Given the description of an element on the screen output the (x, y) to click on. 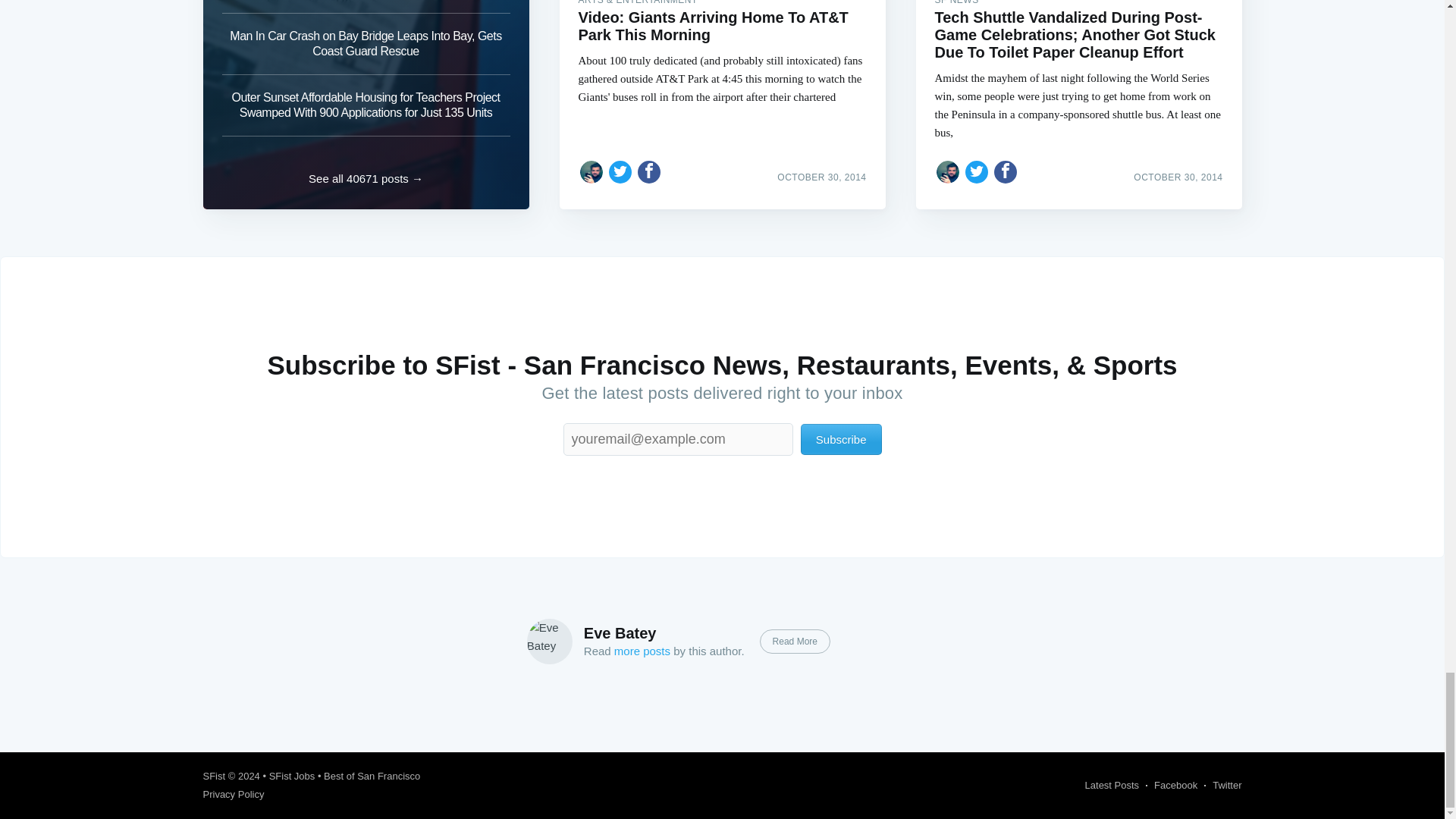
Share on Twitter (620, 171)
Share on Facebook (649, 171)
Share on Facebook (1004, 171)
Share on Twitter (976, 171)
